Given the description of an element on the screen output the (x, y) to click on. 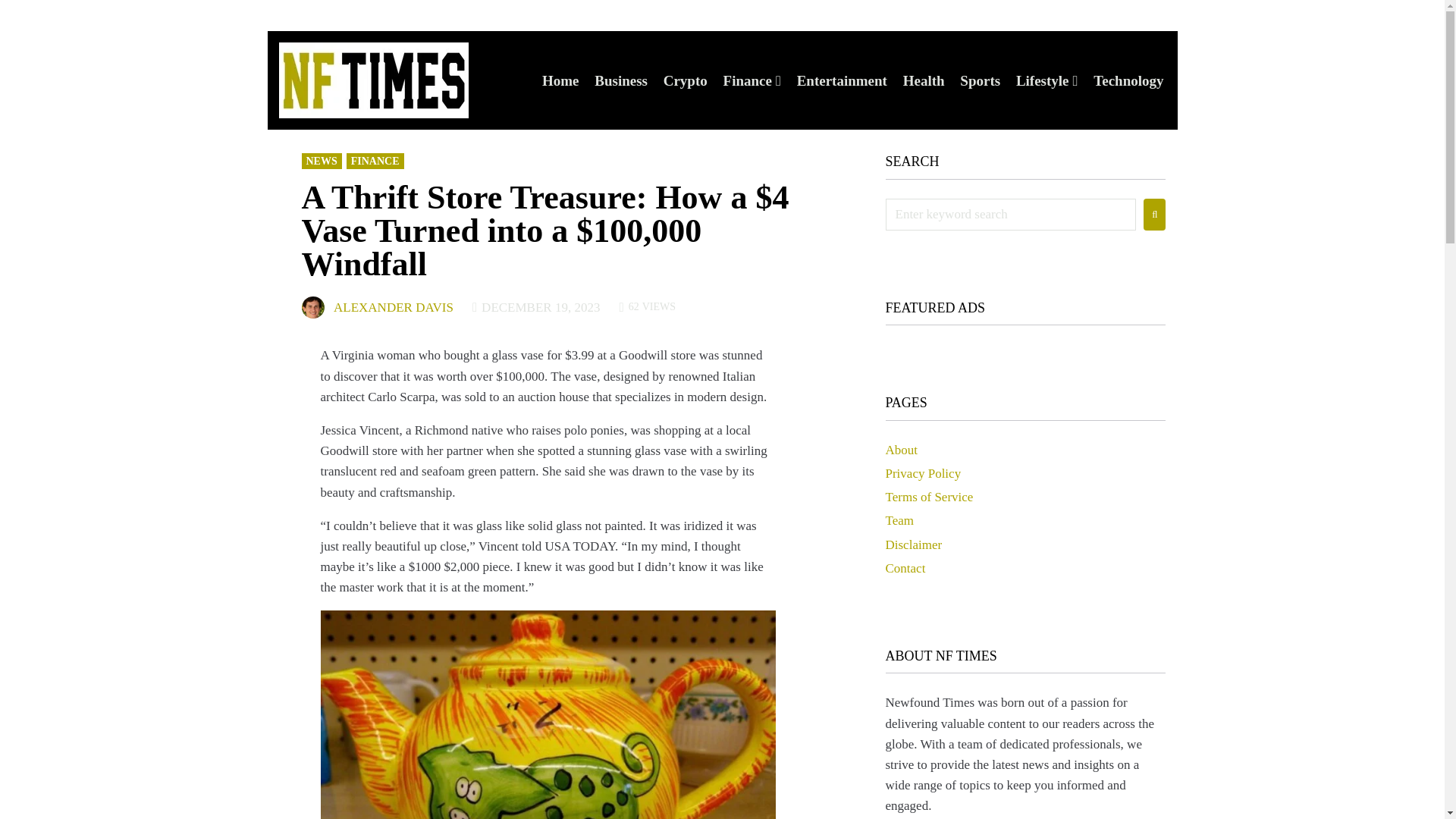
Home (560, 81)
Entertainment (841, 81)
Terms of Service (929, 496)
Finance (747, 81)
Business (620, 81)
Crypto (685, 81)
ALEXANDER DAVIS (392, 307)
Lifestyle (1042, 81)
Contact (905, 568)
Disclaimer (913, 544)
Technology (1128, 81)
FINANCE (375, 160)
Team (899, 520)
Privacy Policy (922, 473)
NEWS (321, 160)
